Given the description of an element on the screen output the (x, y) to click on. 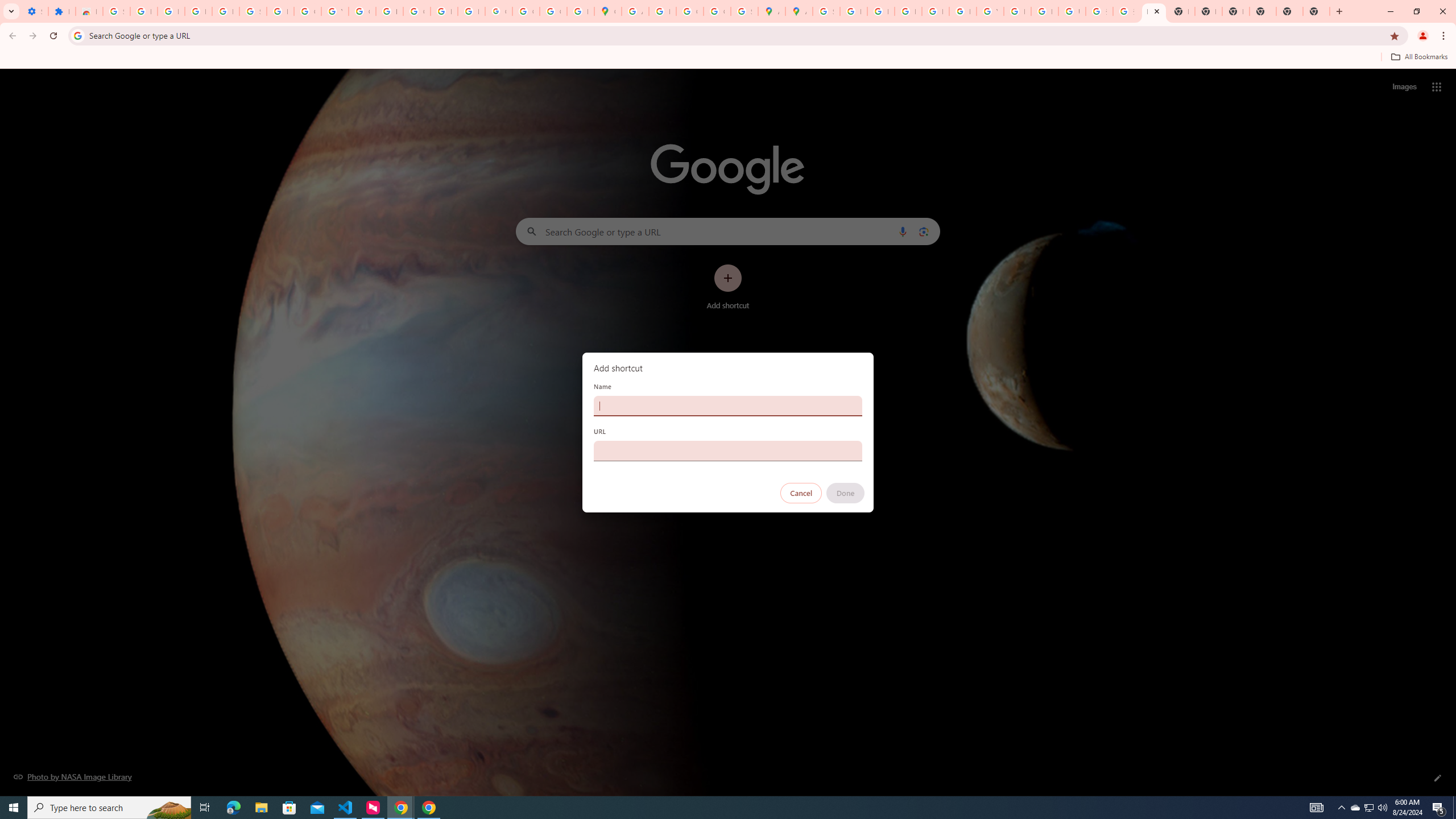
https://scholar.google.com/ (389, 11)
Privacy Help Center - Policies Help (880, 11)
